Given the description of an element on the screen output the (x, y) to click on. 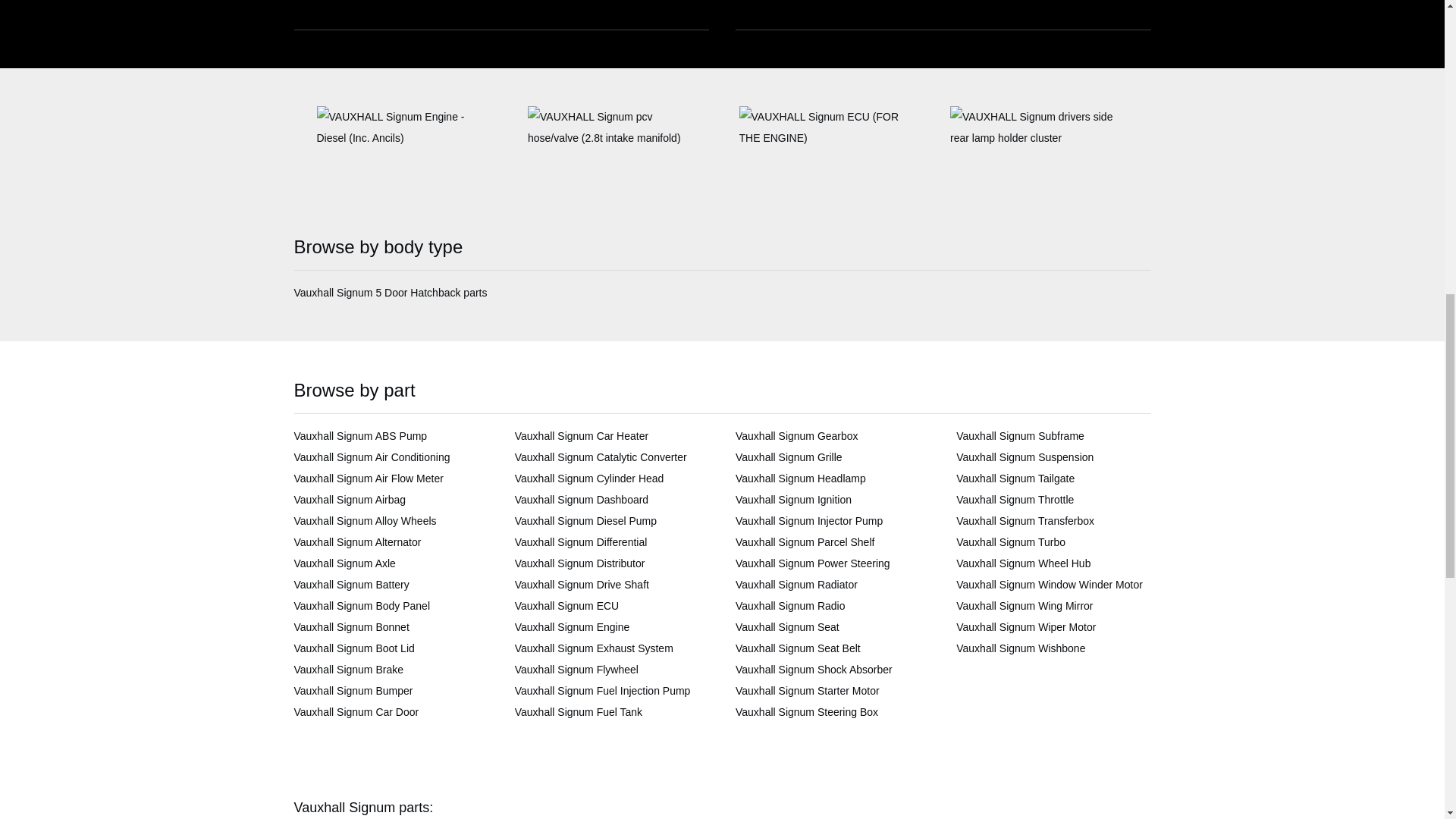
Vauxhall Signum Air Conditioning (371, 457)
Vauxhall Signum ABS Pump (361, 435)
Vauxhall Signum 5 Door Hatchback parts (390, 292)
